Given the description of an element on the screen output the (x, y) to click on. 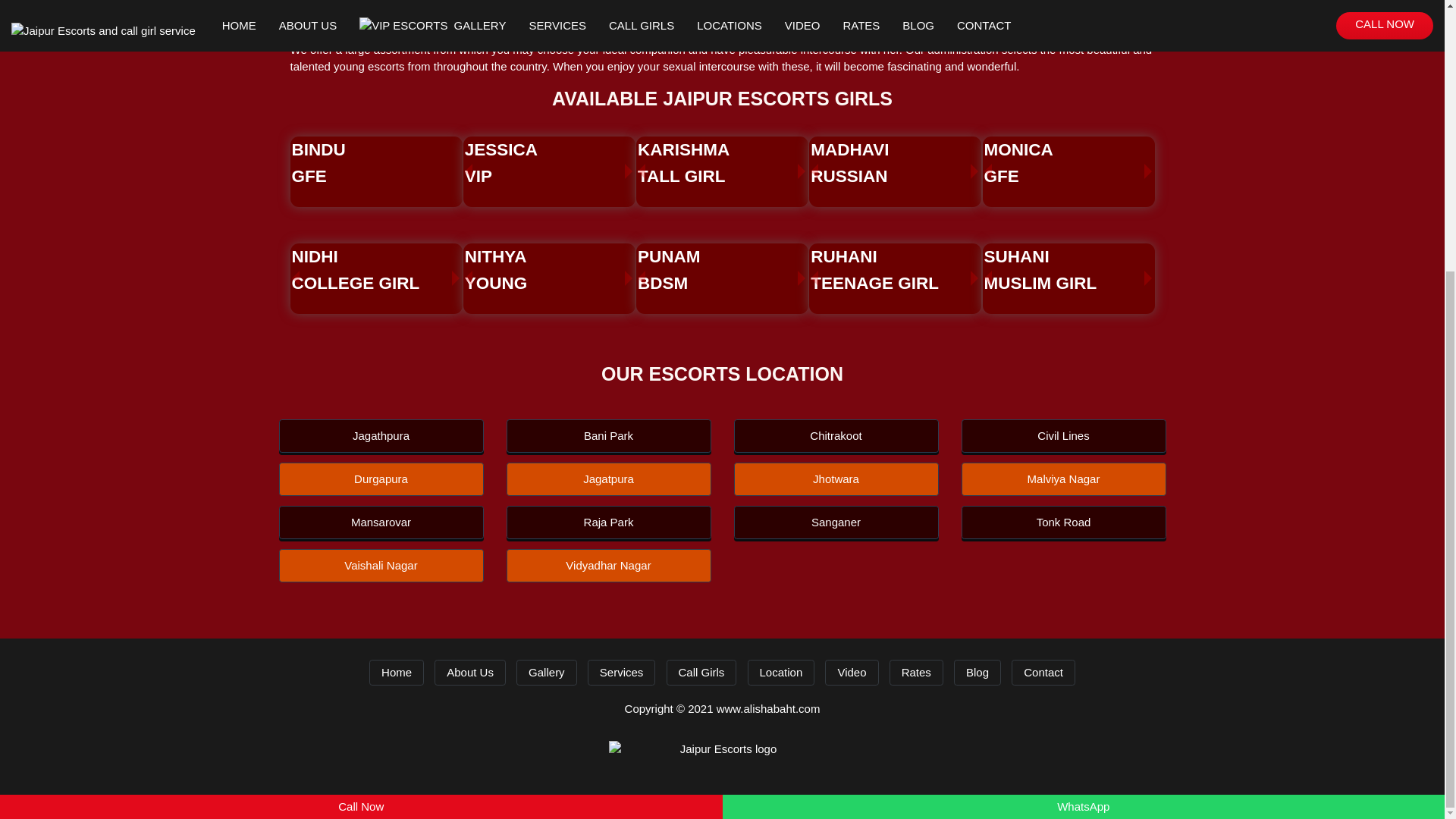
Ajmer road escorts (337, 4)
Jagathpura (547, 269)
